Given the description of an element on the screen output the (x, y) to click on. 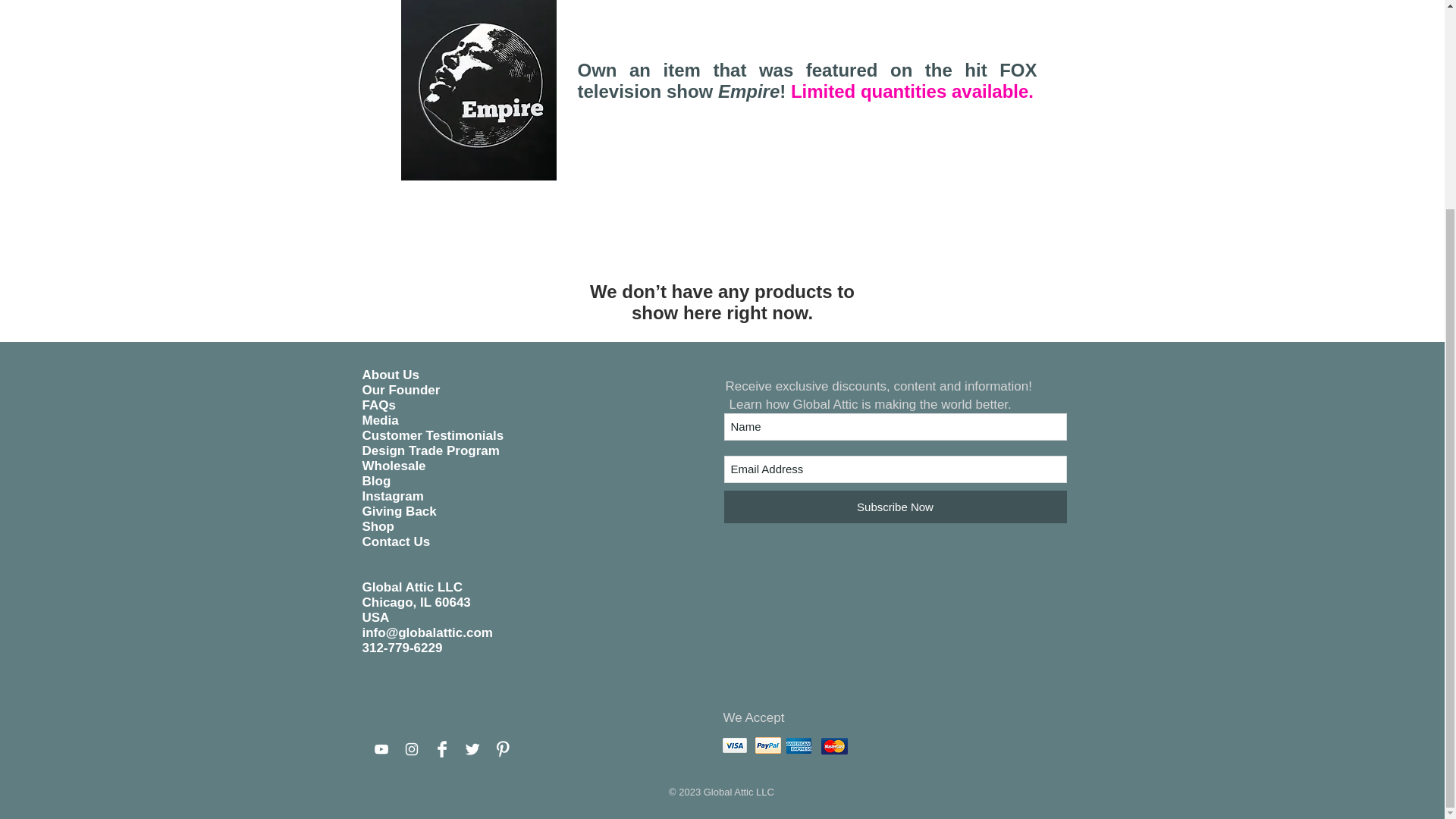
Design Trade Program (430, 450)
Instagram (392, 495)
Customer Testimonials (432, 435)
Our Founder (401, 390)
Shop (378, 526)
Subscribe Now (894, 506)
Contact Us (396, 541)
FAQs (379, 405)
About Us (391, 374)
Wholesale (394, 465)
Media (380, 420)
Blog (376, 481)
Giving Back (399, 511)
